Given the description of an element on the screen output the (x, y) to click on. 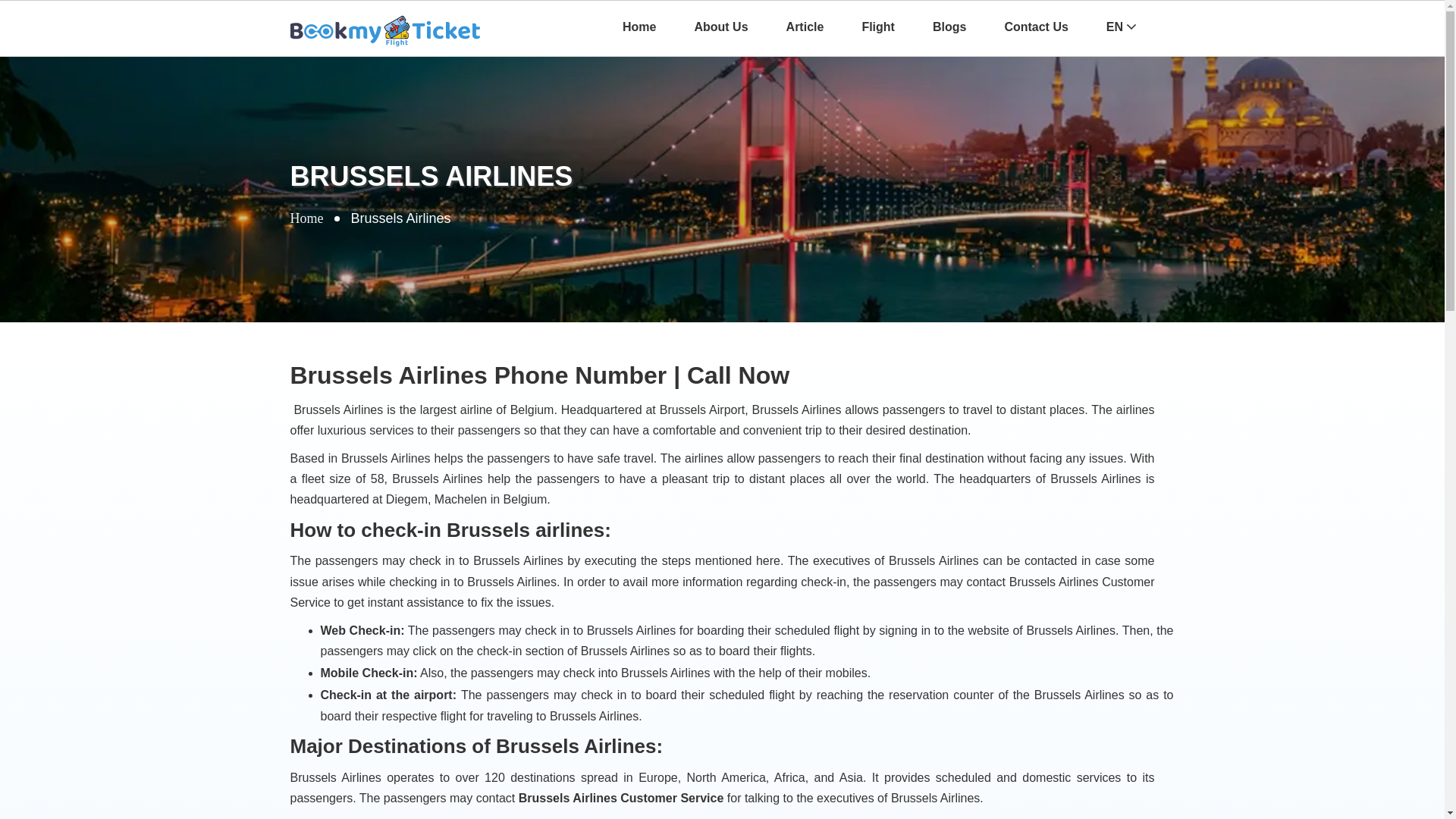
Blogs (949, 27)
Contact Us (1035, 27)
Flight (878, 27)
Home (639, 27)
EN (1120, 27)
Home (306, 218)
Article (805, 27)
About Us (721, 27)
